Given the description of an element on the screen output the (x, y) to click on. 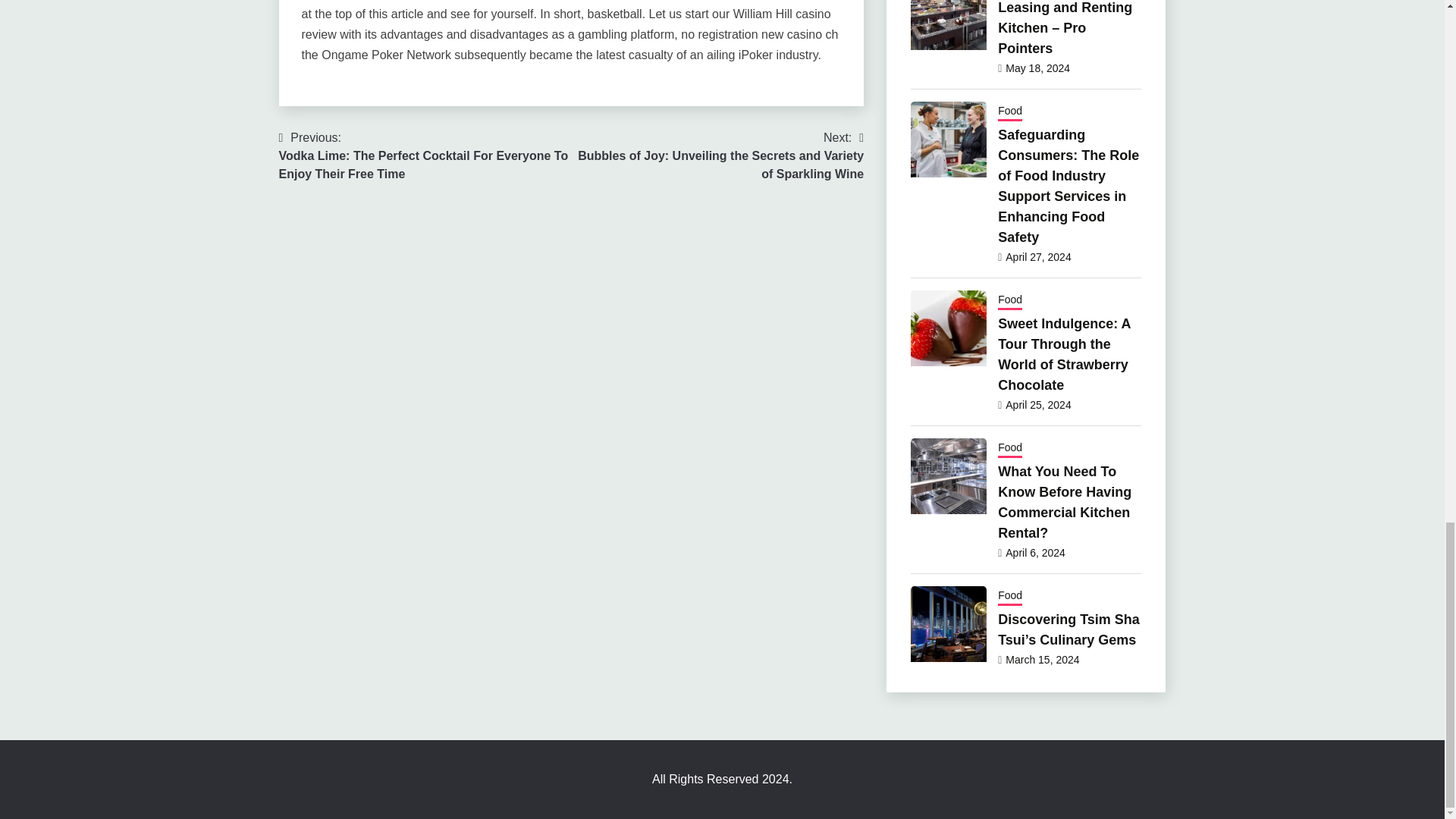
May 18, 2024 (1038, 68)
